Given the description of an element on the screen output the (x, y) to click on. 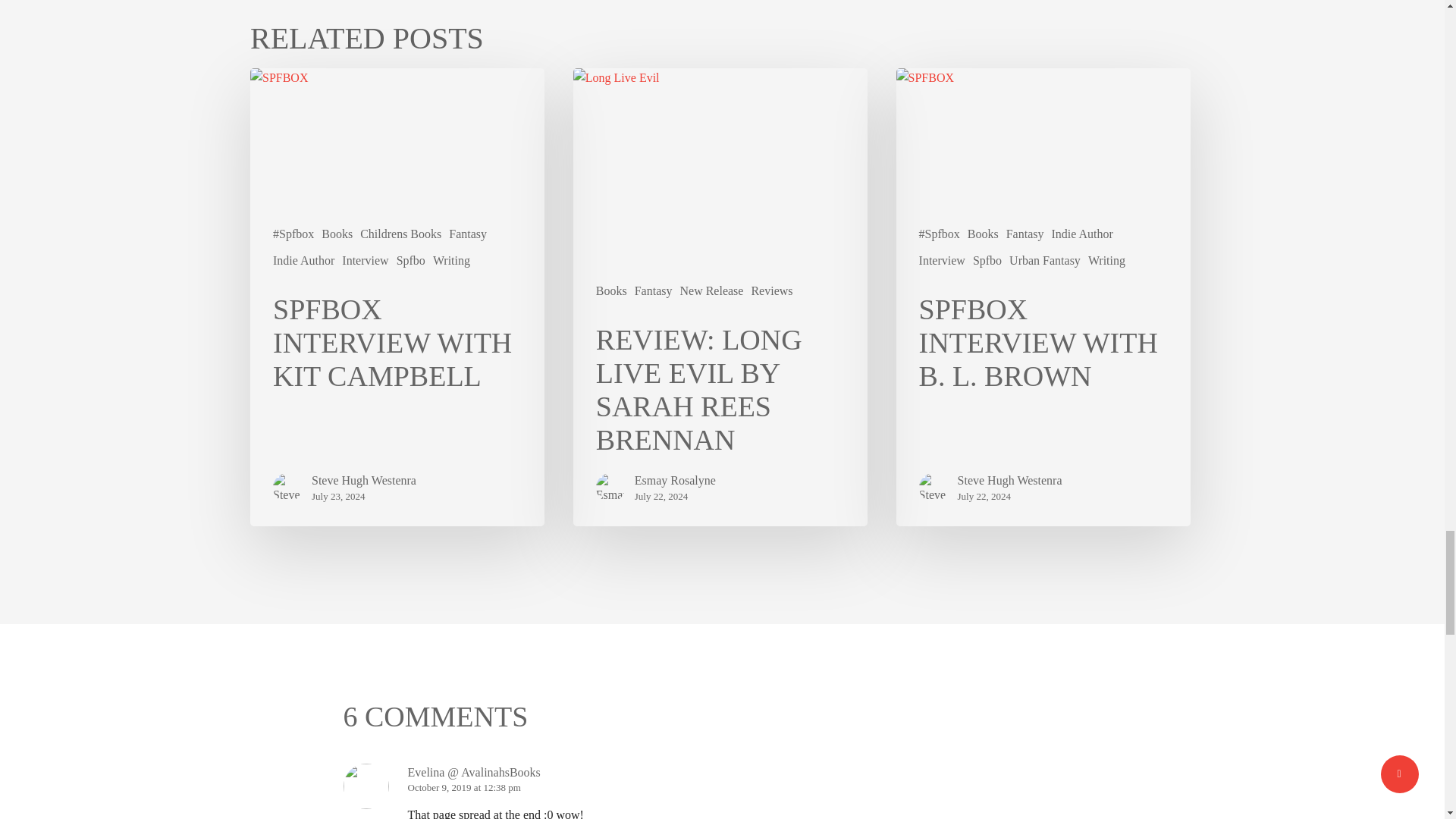
Books (336, 234)
Indie Author (303, 260)
Writing (451, 260)
Fantasy (467, 234)
Childrens Books (400, 234)
Interview (365, 260)
Spfbo (410, 260)
Steve Hugh Westenra (363, 480)
